Given the description of an element on the screen output the (x, y) to click on. 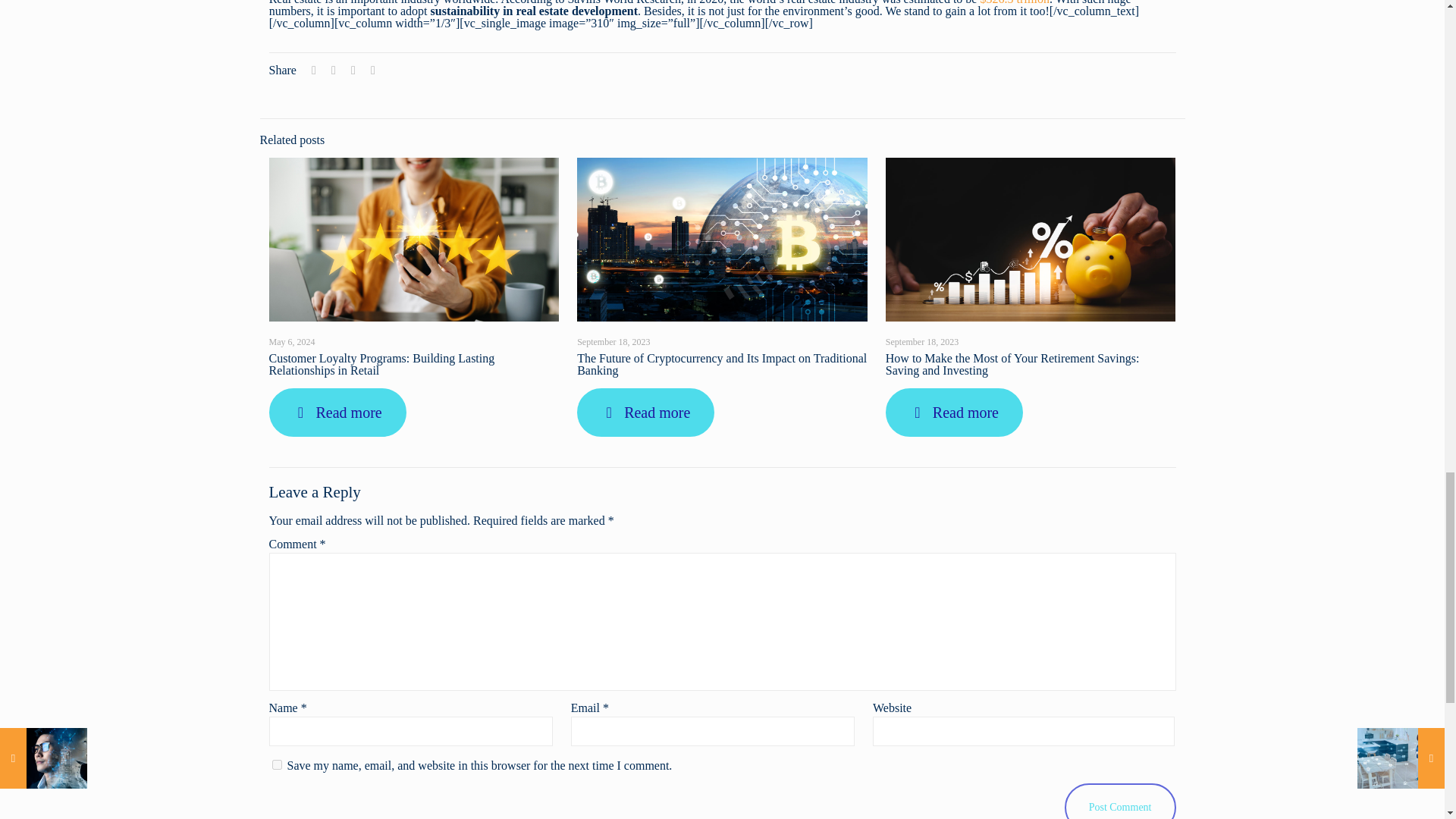
Read more (645, 412)
Post Comment (1120, 800)
Read more (954, 412)
Post Comment (1120, 800)
Read more (336, 412)
yes (275, 764)
